Given the description of an element on the screen output the (x, y) to click on. 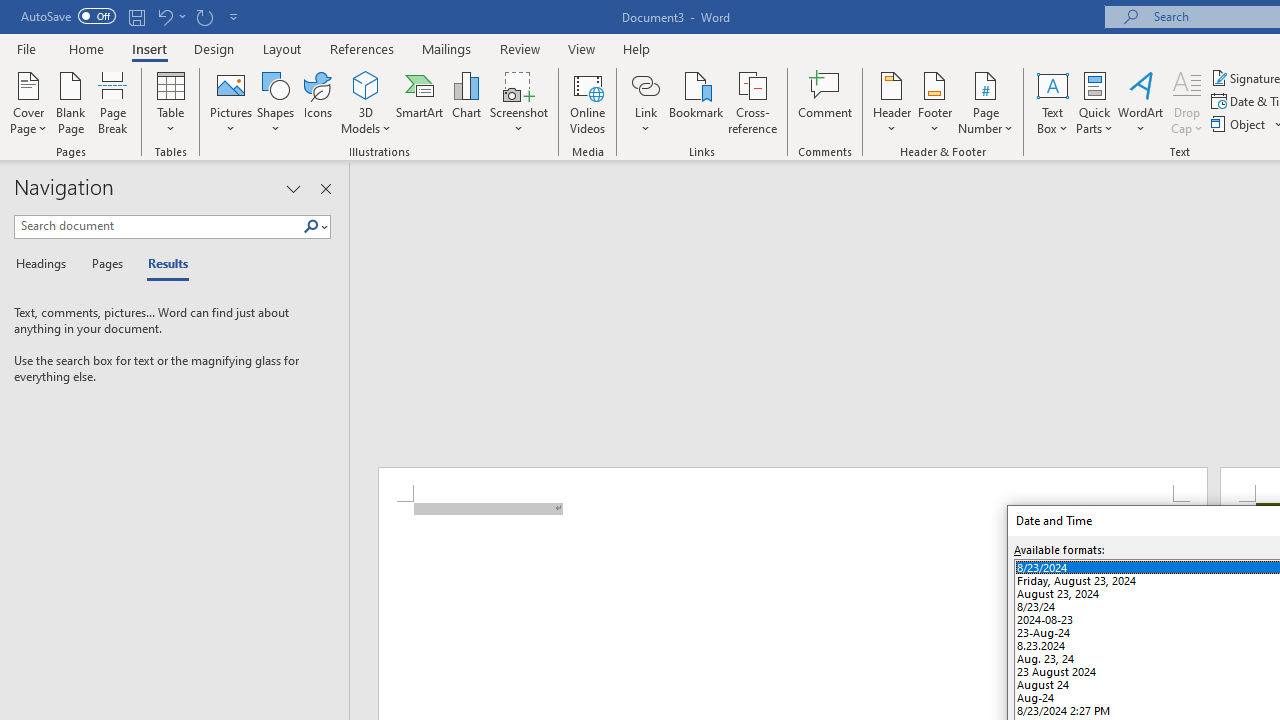
Pictures (230, 102)
Link (645, 102)
Comment (825, 102)
Undo New Page (170, 15)
Header (891, 102)
Header -Section 1- (792, 485)
Link (645, 84)
Quick Parts (1094, 102)
Chart... (466, 102)
